Given the description of an element on the screen output the (x, y) to click on. 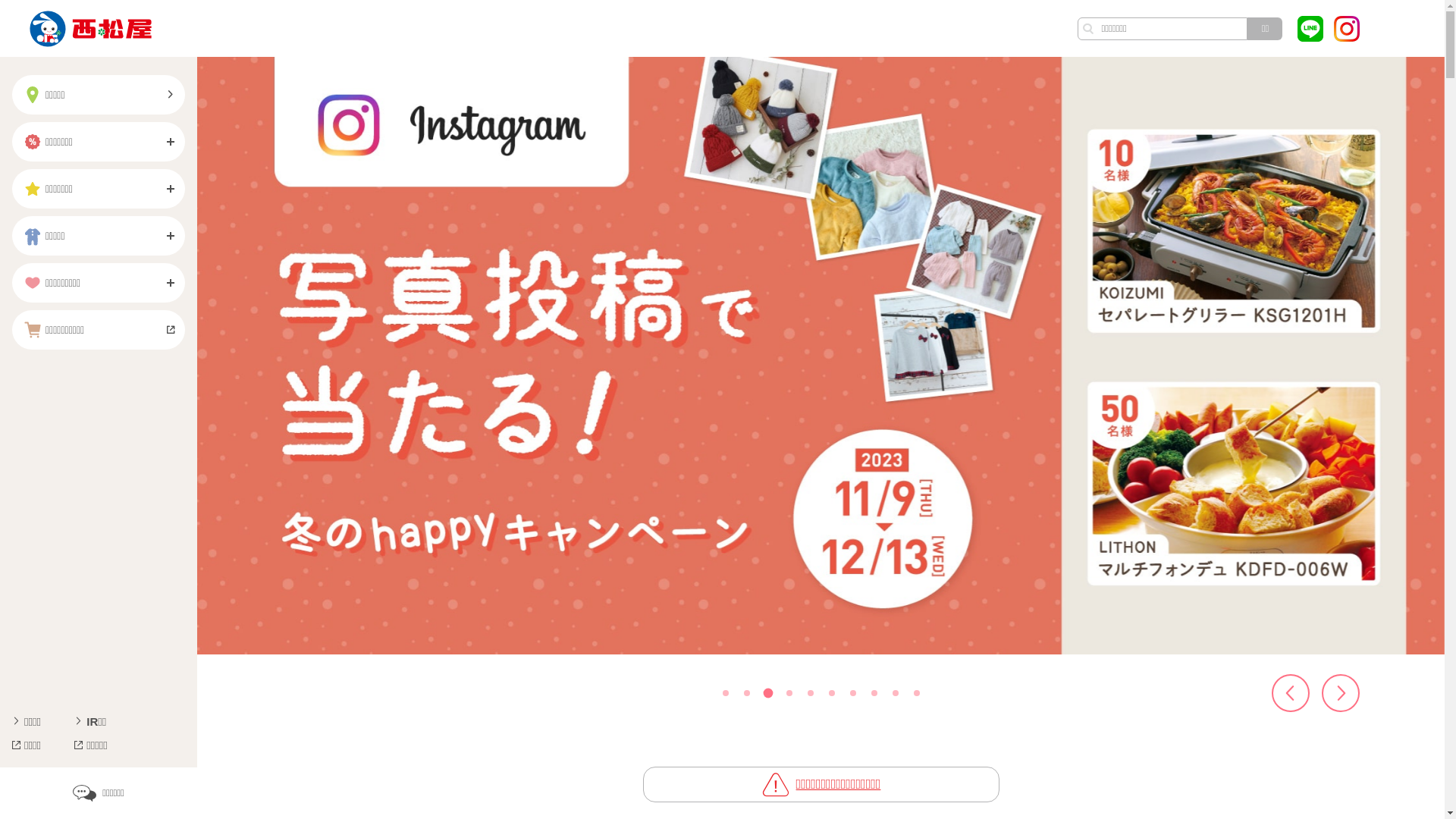
4 Element type: text (788, 693)
5 Element type: text (809, 693)
9 Element type: text (894, 693)
Next Element type: text (1340, 693)
6 Element type: text (831, 693)
1 Element type: text (724, 693)
10 Element type: text (914, 691)
2 Element type: text (746, 693)
3 Element type: text (767, 693)
Previous Element type: text (1290, 693)
7 Element type: text (852, 693)
8 Element type: text (873, 693)
